Given the description of an element on the screen output the (x, y) to click on. 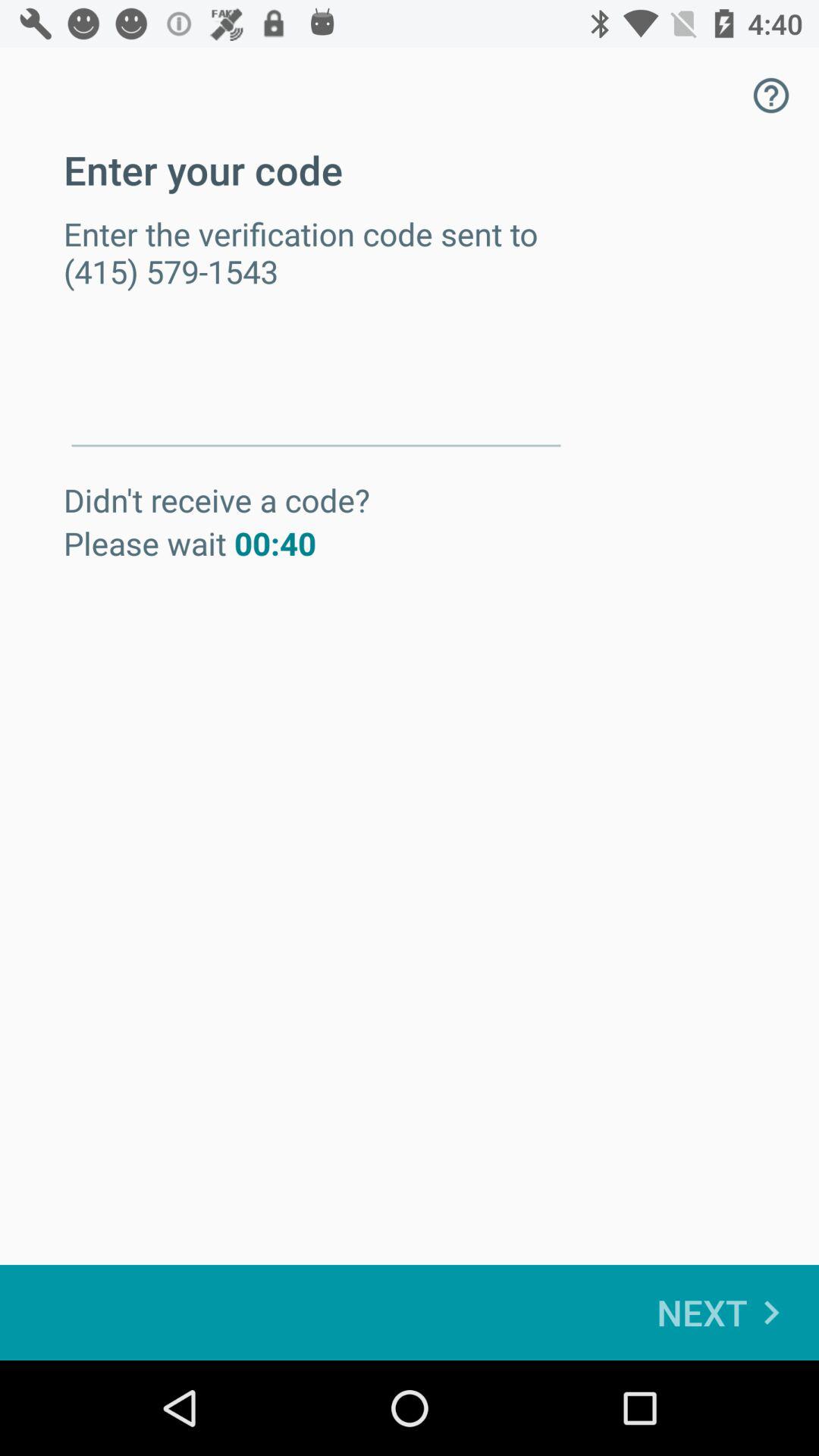
turn on item to the right of the enter your code item (771, 95)
